Given the description of an element on the screen output the (x, y) to click on. 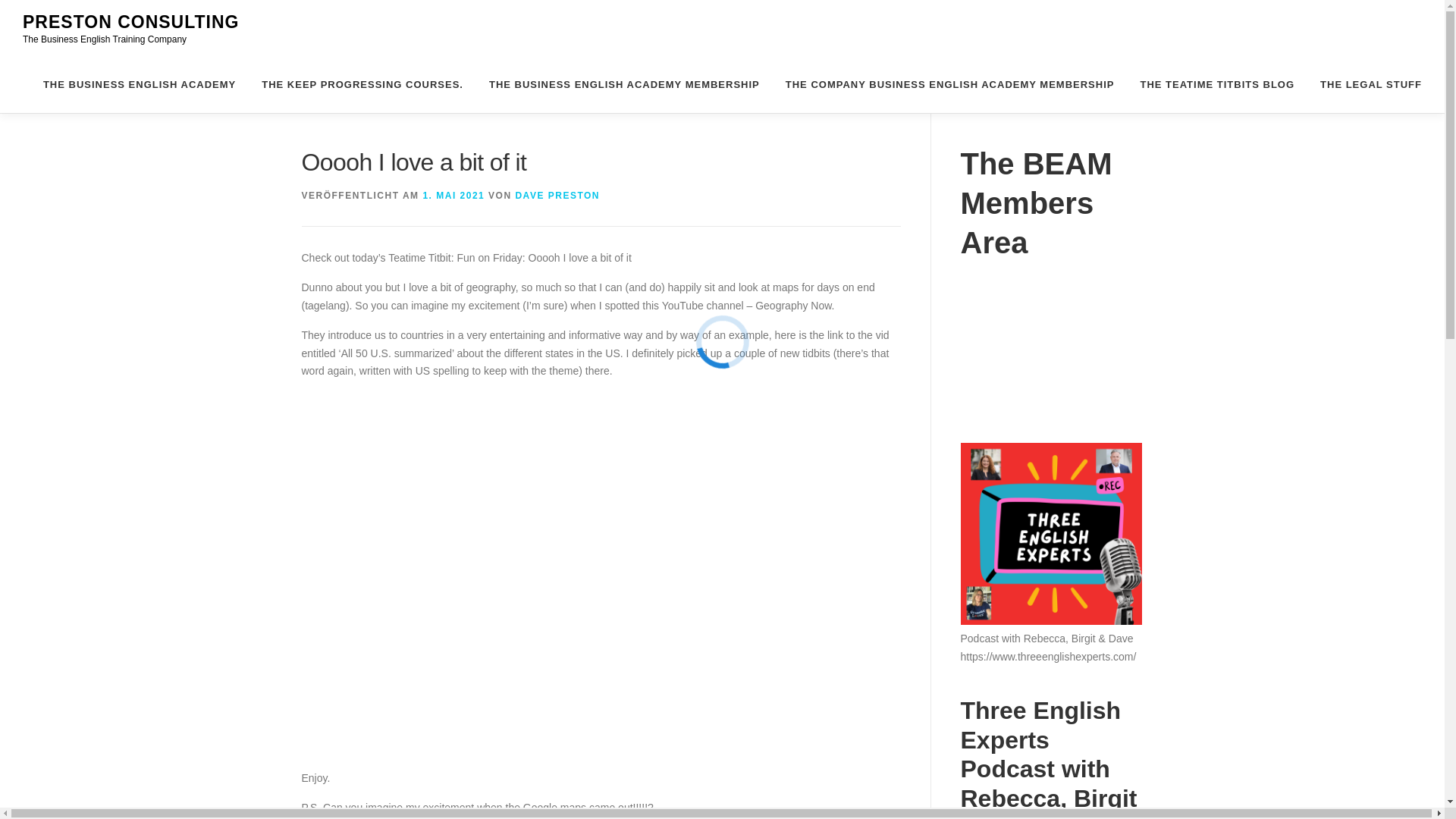
THE TEATIME TITBITS BLOG (1216, 84)
PRESTON CONSULTING (131, 21)
DAVE PRESTON (557, 195)
THE BUSINESS ENGLISH ACADEMY MEMBERSHIP (624, 84)
1. MAI 2021 (453, 195)
THE COMPANY BUSINESS ENGLISH ACADEMY MEMBERSHIP (949, 84)
THE BUSINESS ENGLISH ACADEMY (139, 84)
THE KEEP PROGRESSING COURSES. (362, 84)
THE LEGAL STUFF (1364, 84)
